Given the description of an element on the screen output the (x, y) to click on. 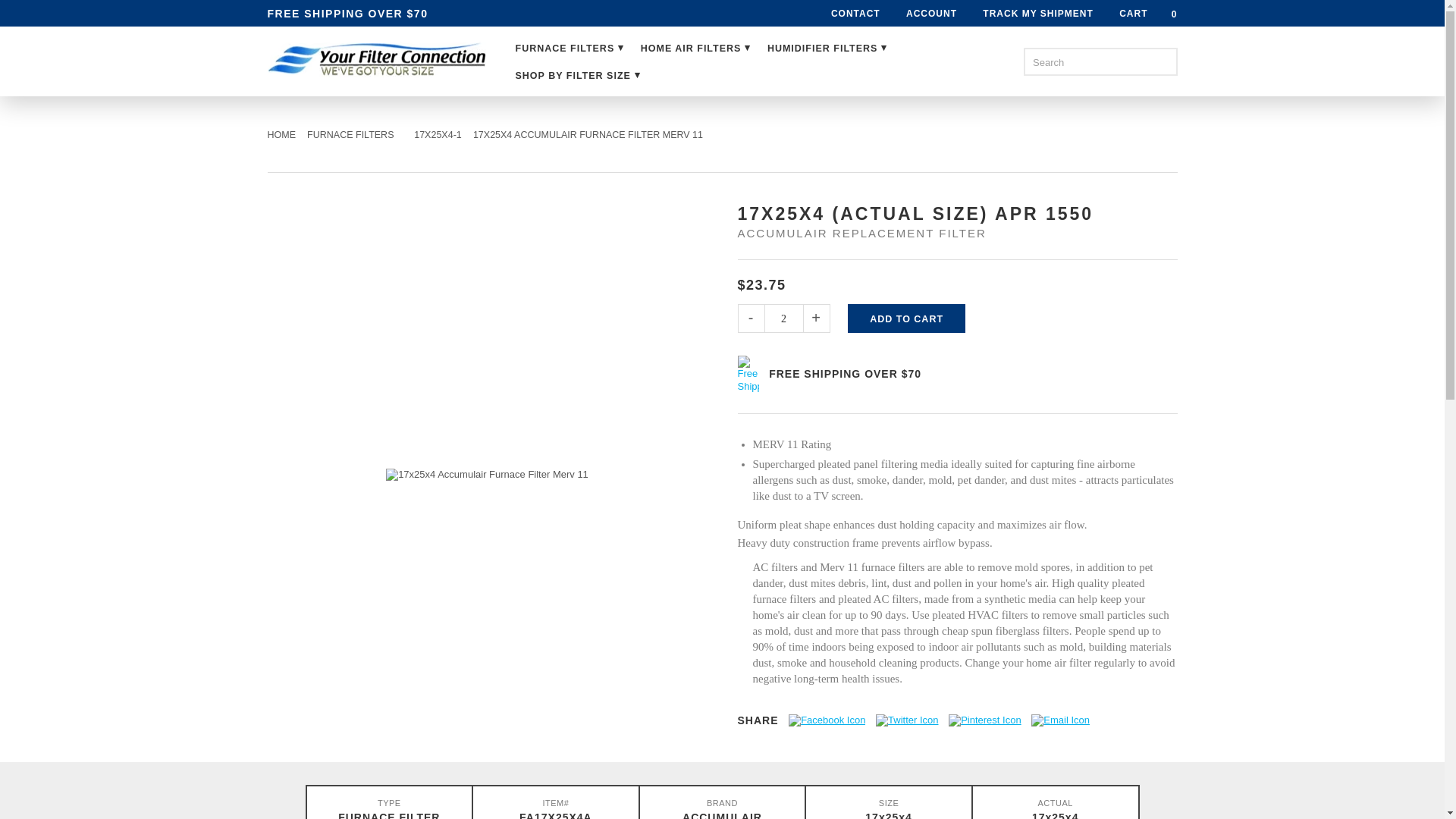
FURNACE FILTERS (569, 47)
SHOP BY FILTER SIZE (577, 74)
TRACK MY SHIPMENT (1037, 13)
Search (1163, 60)
Add To Cart (906, 317)
2 (783, 317)
HOME AIR FILTERS (695, 47)
HUMIDIFIER FILTERS (827, 47)
Search (1163, 60)
ACCOUNT (931, 13)
